Given the description of an element on the screen output the (x, y) to click on. 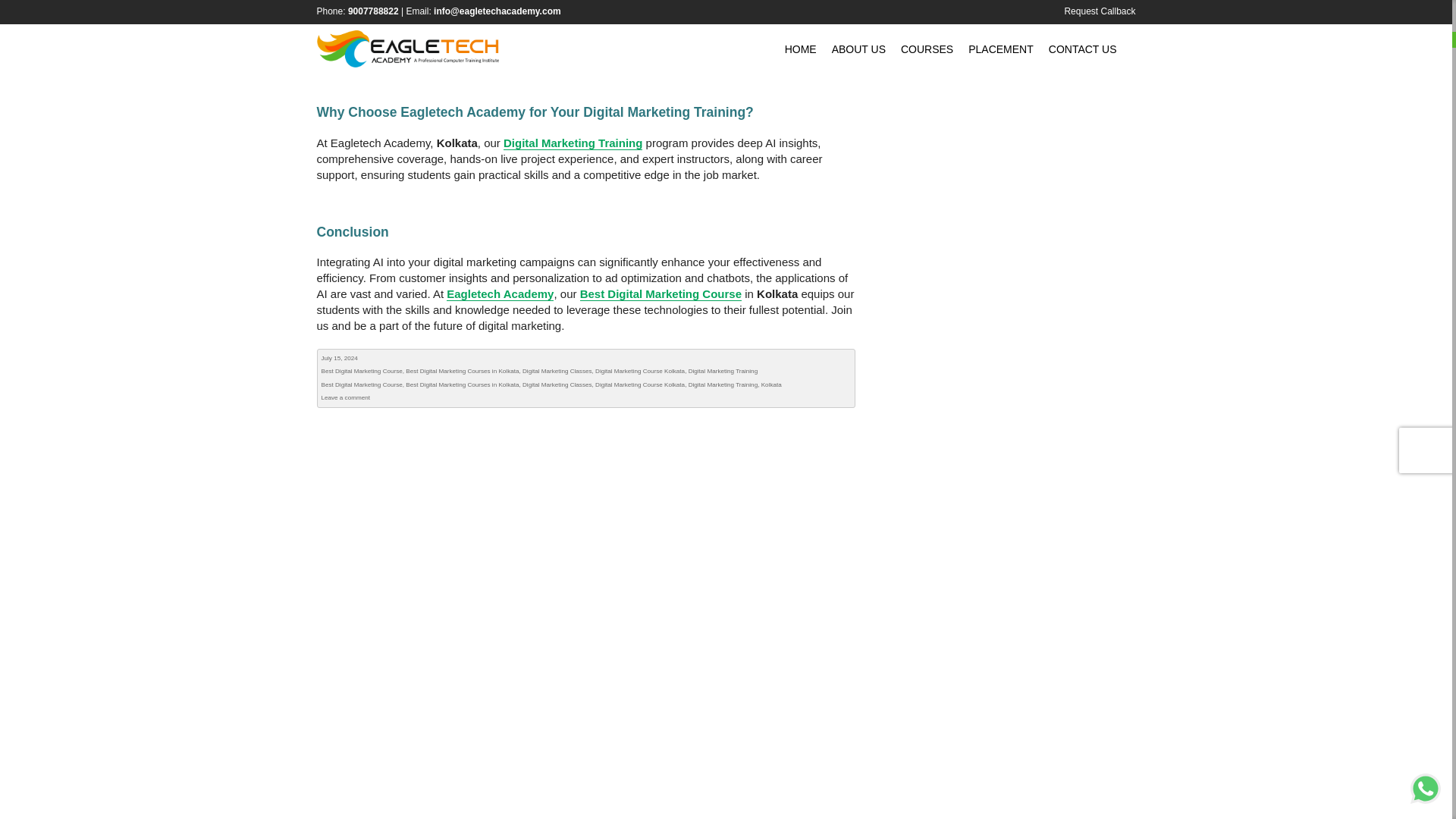
Kolkata (771, 384)
July 15, 2024 (339, 357)
Digital Marketing Training (572, 142)
Digital Marketing Course Kolkata (639, 370)
Digital Marketing Training (723, 370)
Best Digital Marketing Course (362, 370)
Digital Marketing Classes (557, 370)
Digital Marketing Training (723, 384)
Best Digital Marketing Course (660, 293)
Eagletech Academy (499, 293)
Digital Marketing Course Kolkata (639, 384)
Digital Marketing Classes (557, 384)
Best Digital Marketing Courses in Kolkata (462, 384)
Best Digital Marketing Courses in Kolkata (462, 370)
